Given the description of an element on the screen output the (x, y) to click on. 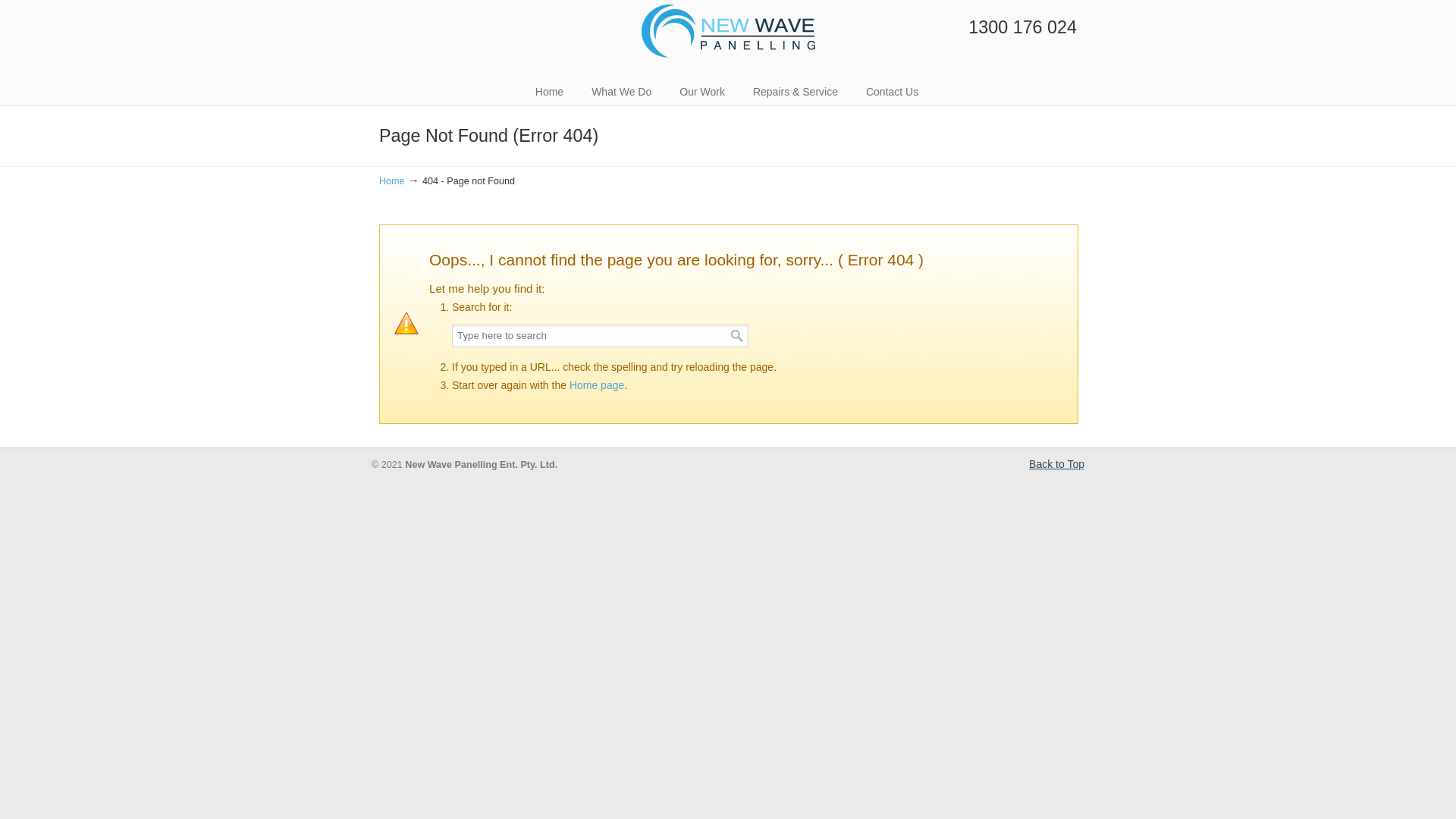
Home Element type: text (549, 91)
Search Element type: text (736, 335)
Our Work Element type: text (702, 91)
Home page Element type: text (596, 385)
What We Do Element type: text (621, 91)
New Wave Panelling Element type: text (728, 30)
Home Element type: text (391, 180)
Repairs & Service Element type: text (795, 91)
Back to Top Element type: text (1056, 464)
Contact Us Element type: text (891, 91)
